Given the description of an element on the screen output the (x, y) to click on. 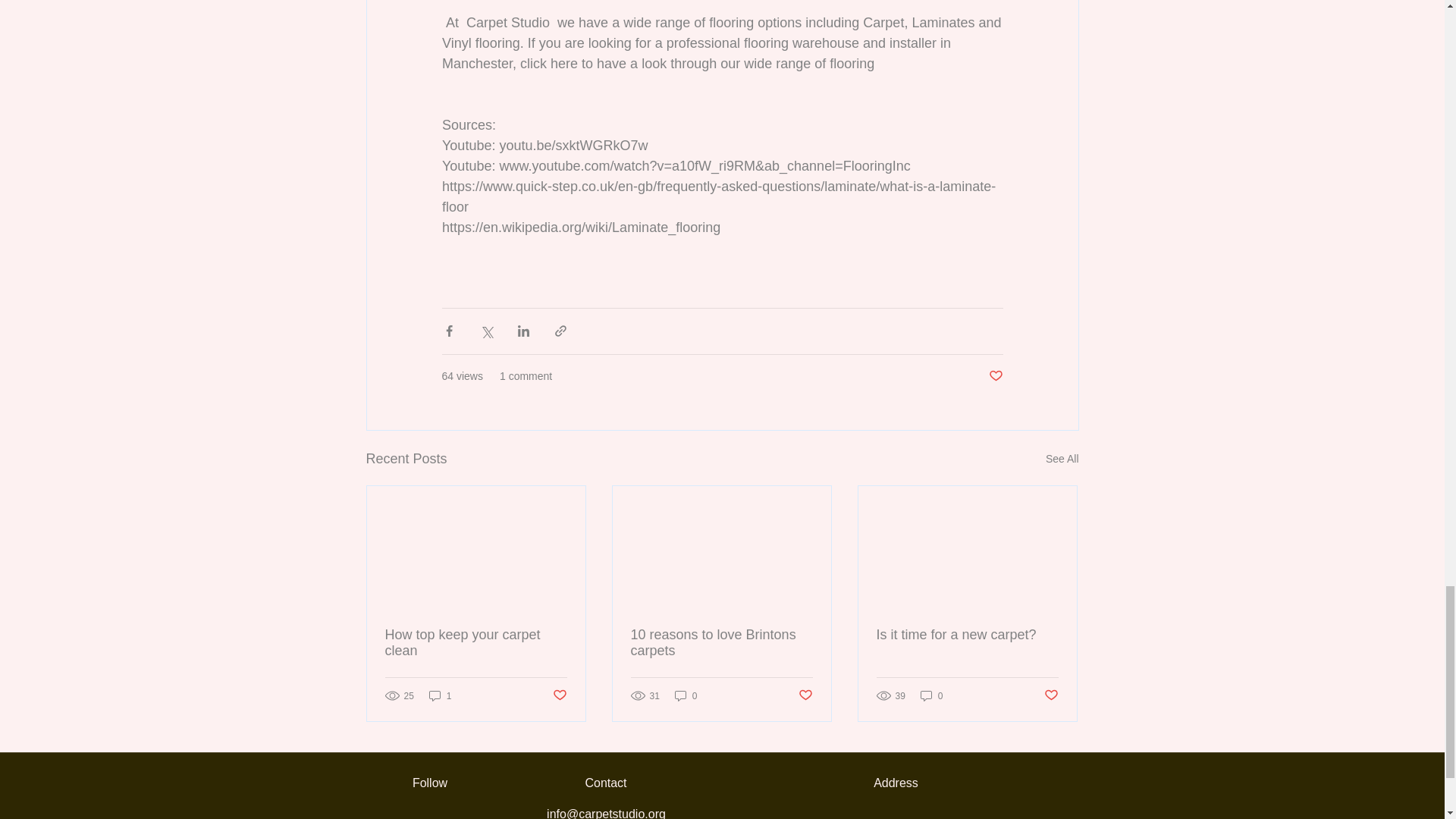
See All (1061, 458)
How top keep your carpet clean (476, 643)
Post not marked as liked (804, 695)
10 reasons to love Brintons carpets (721, 643)
1 (440, 695)
Post not marked as liked (995, 376)
Post not marked as liked (558, 695)
0 (685, 695)
0 (931, 695)
Post not marked as liked (1050, 695)
Is it time for a new carpet? (967, 634)
